Given the description of an element on the screen output the (x, y) to click on. 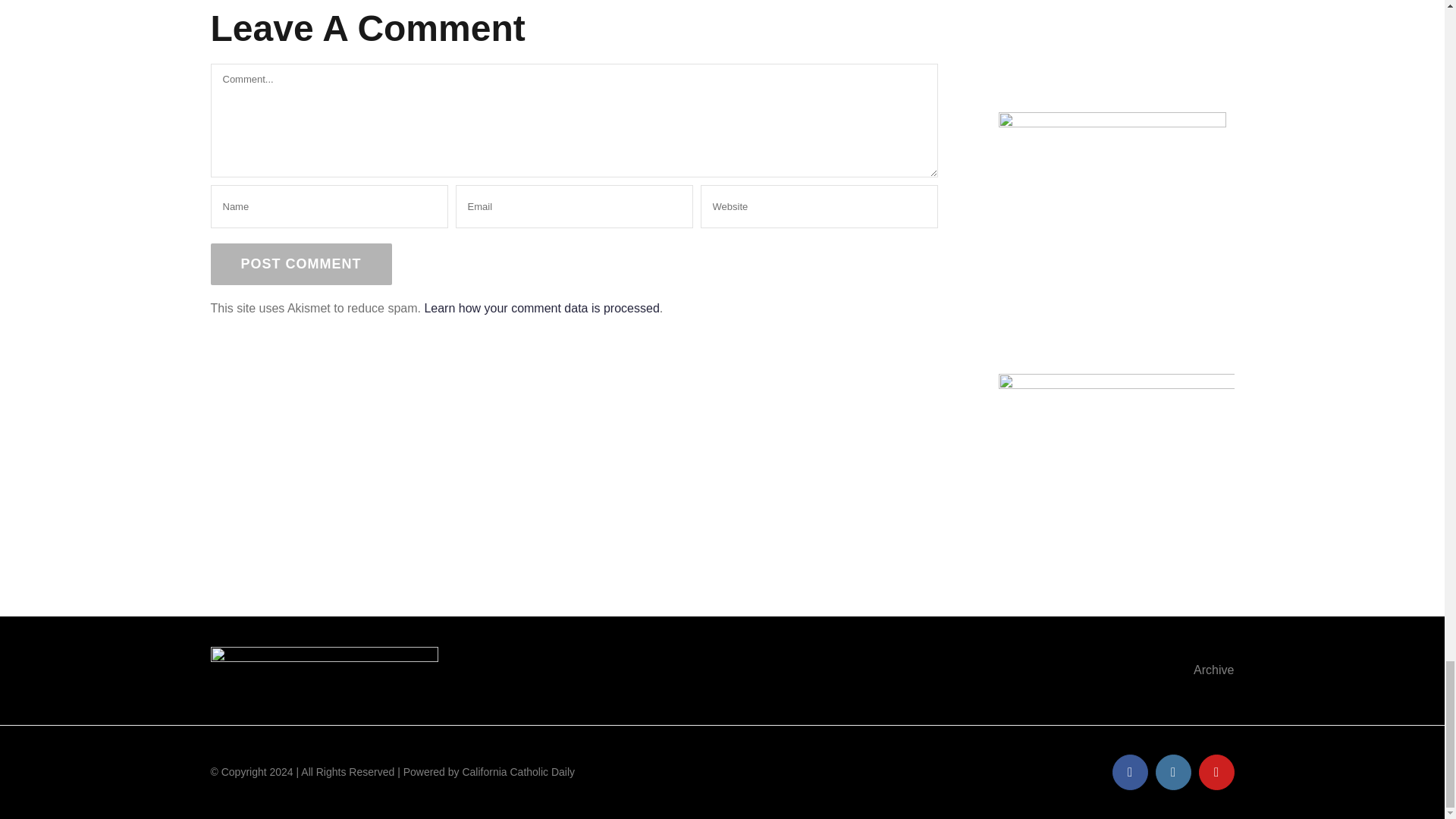
Post Comment (301, 264)
